Given the description of an element on the screen output the (x, y) to click on. 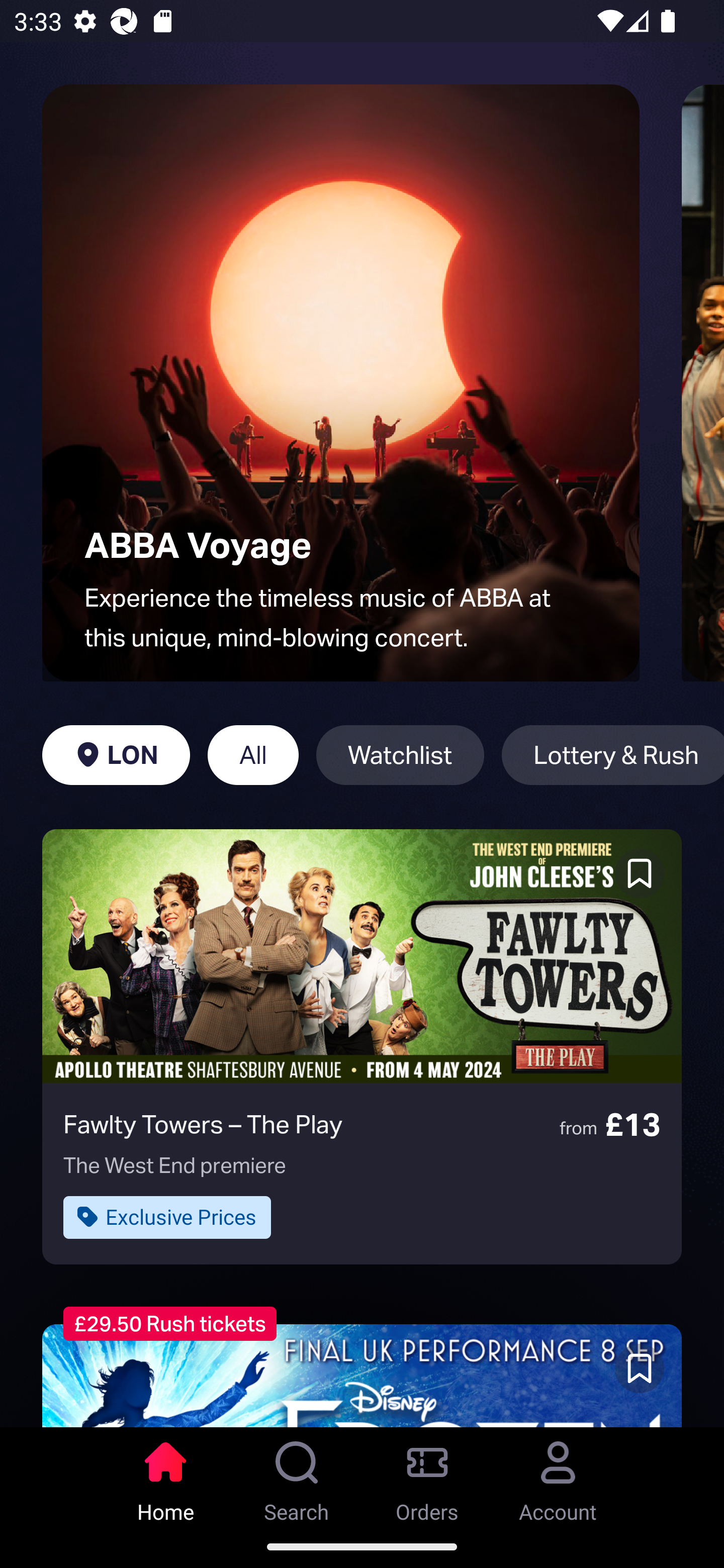
LON (115, 754)
All (252, 754)
Watchlist (400, 754)
Lottery & Rush (612, 754)
Search (296, 1475)
Orders (427, 1475)
Account (558, 1475)
